Given the description of an element on the screen output the (x, y) to click on. 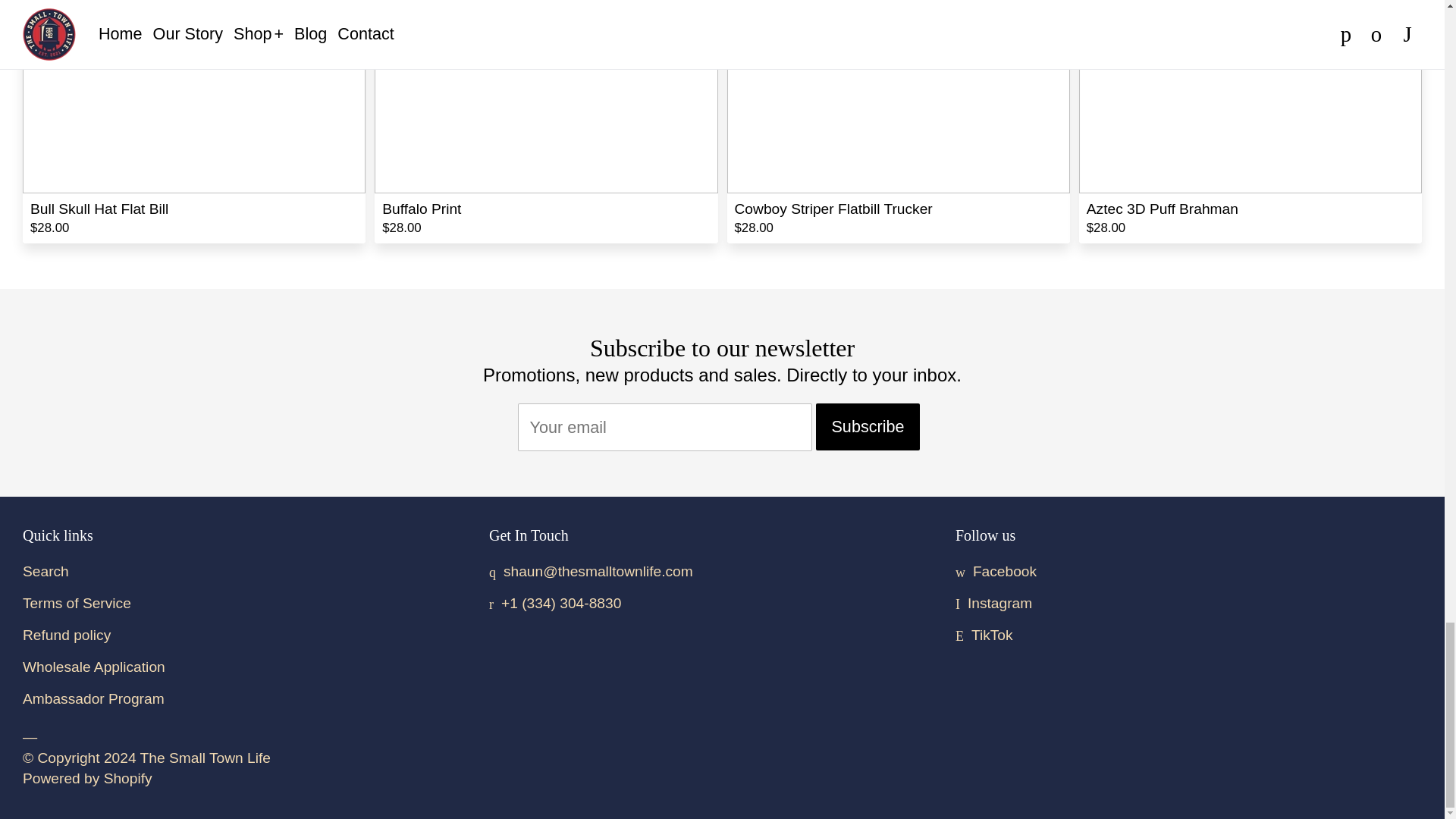
Subscribe (866, 426)
The Small Town Life on Facebook (995, 571)
The Small Town Life on Instagram (993, 602)
The Small Town Life on TikTok (984, 634)
